Given the description of an element on the screen output the (x, y) to click on. 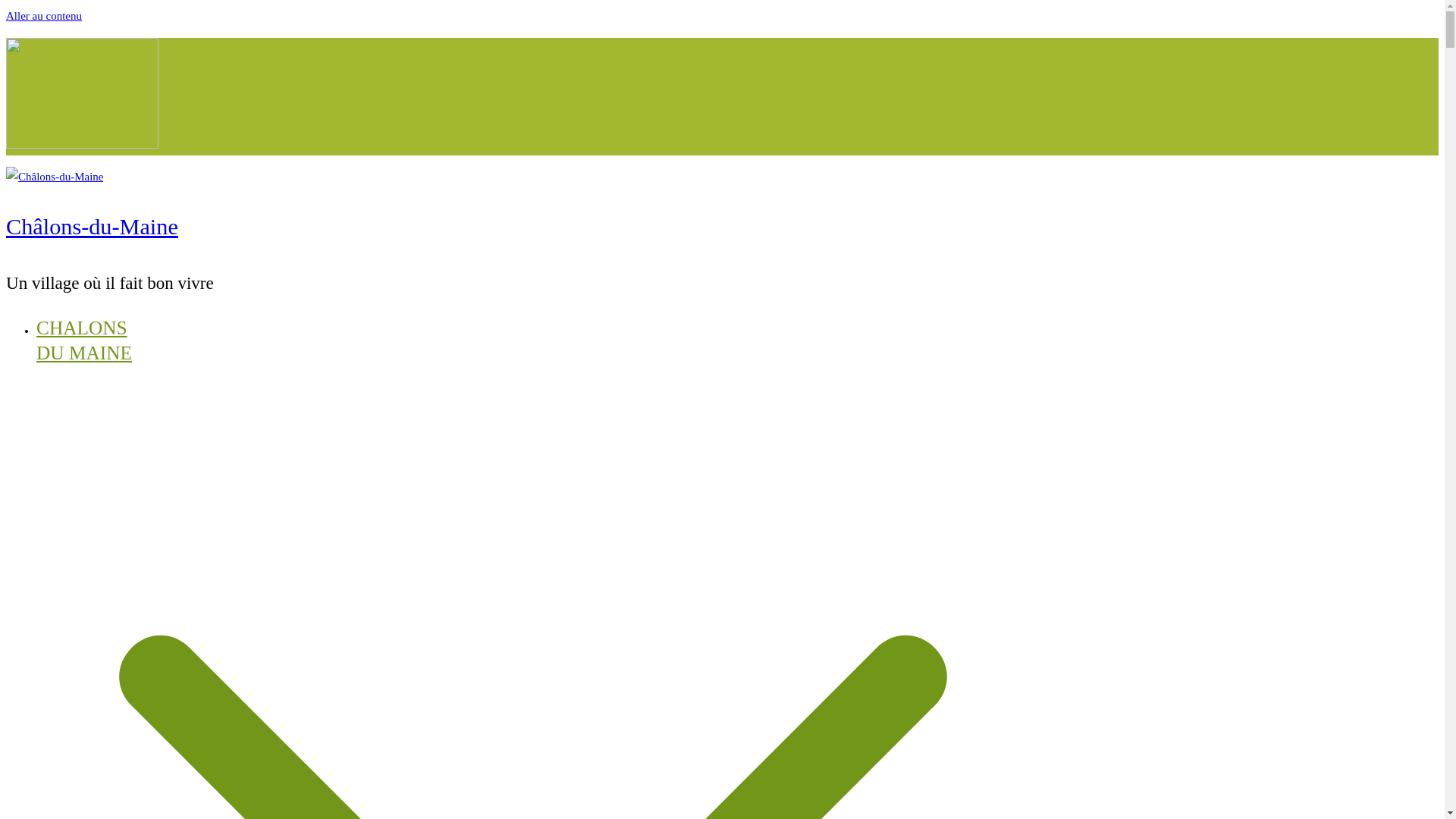
Aller au contenu (43, 15)
